Given the description of an element on the screen output the (x, y) to click on. 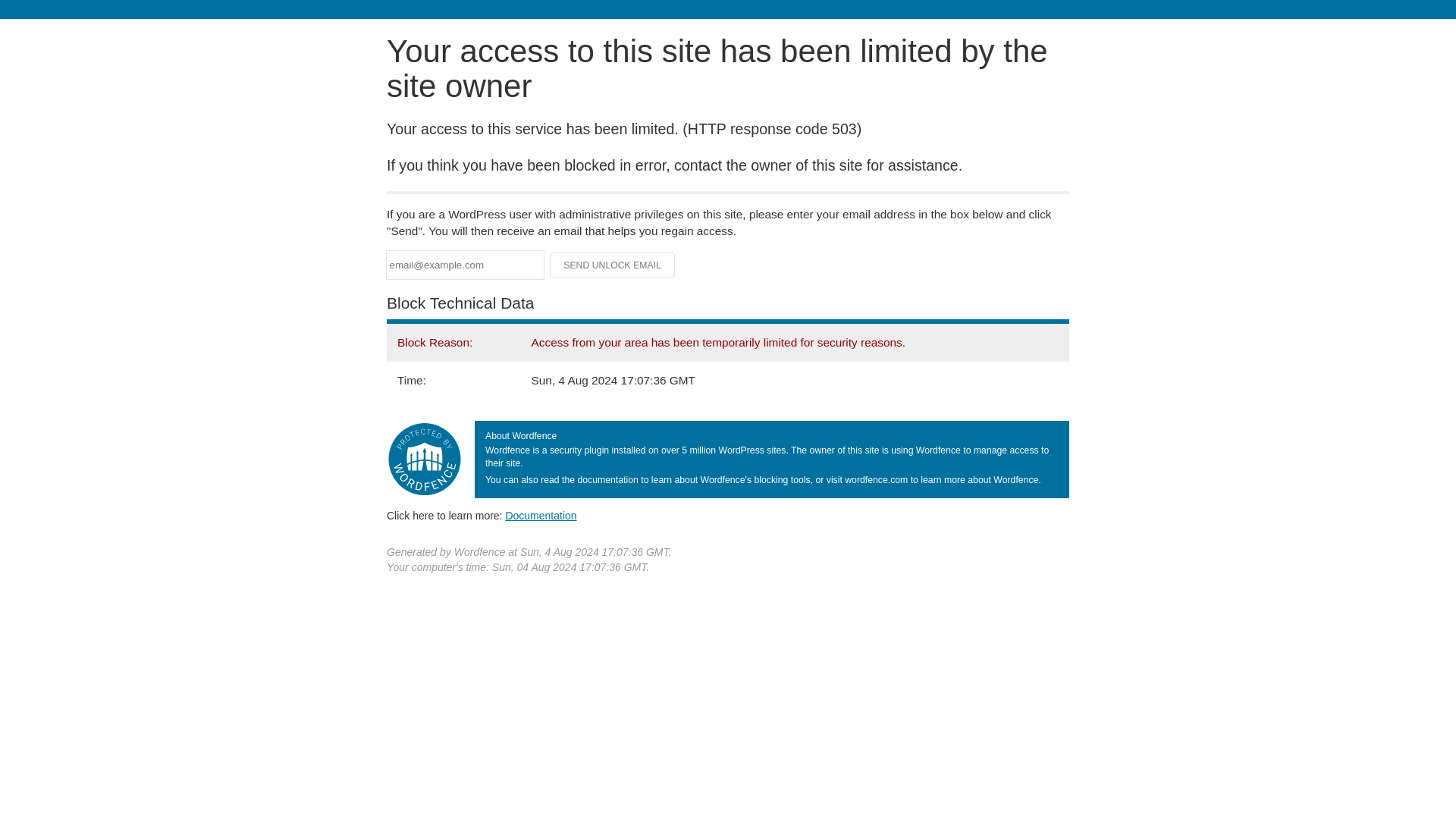
Send Unlock Email (612, 265)
Send Unlock Email (612, 265)
Documentation (540, 515)
